Given the description of an element on the screen output the (x, y) to click on. 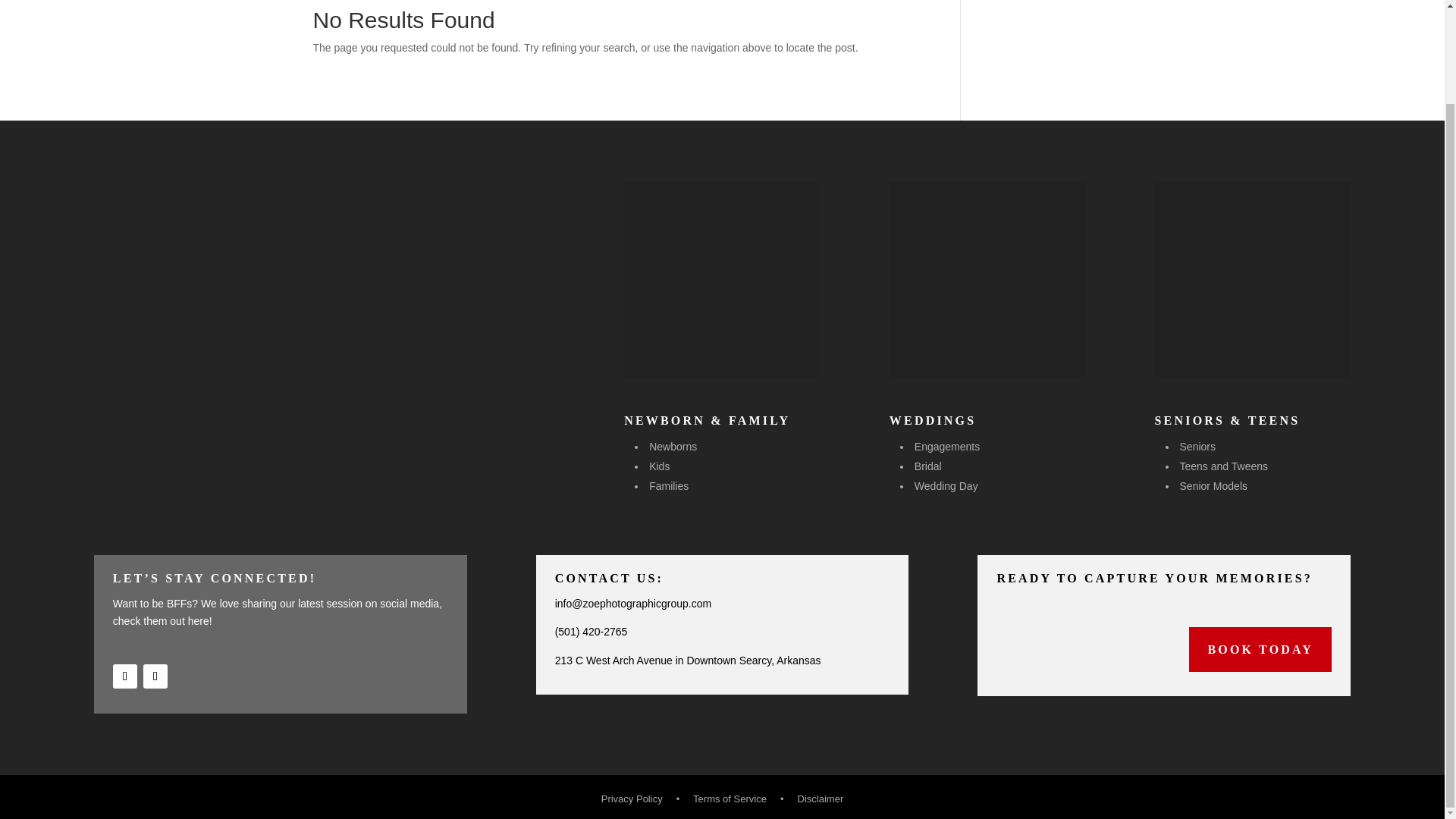
BOOK TODAY (1260, 649)
Disclaimer (820, 798)
Privacy Policy  (633, 798)
Follow on Instagram (154, 676)
Terms of Service (730, 798)
Follow on Facebook (124, 676)
